Given the description of an element on the screen output the (x, y) to click on. 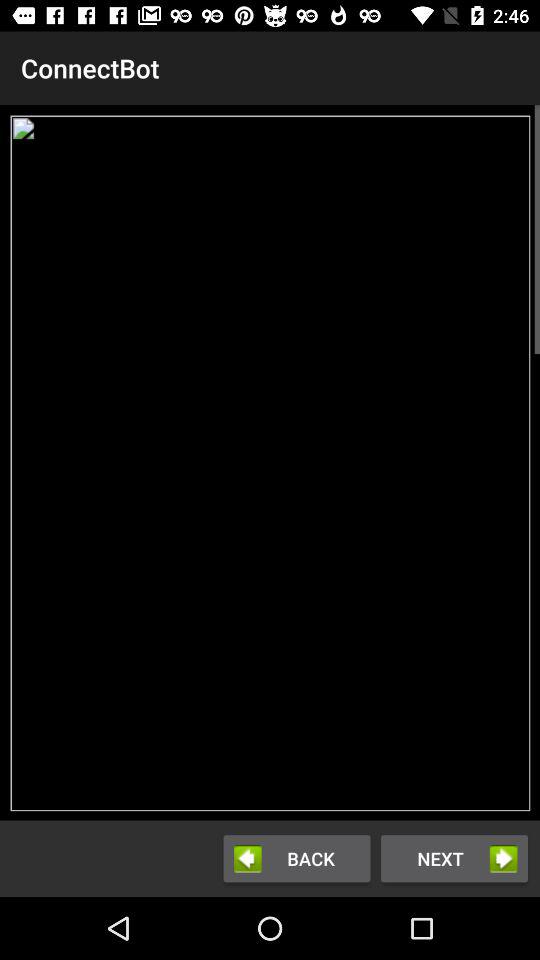
launch the icon below the connectbot item (270, 462)
